Given the description of an element on the screen output the (x, y) to click on. 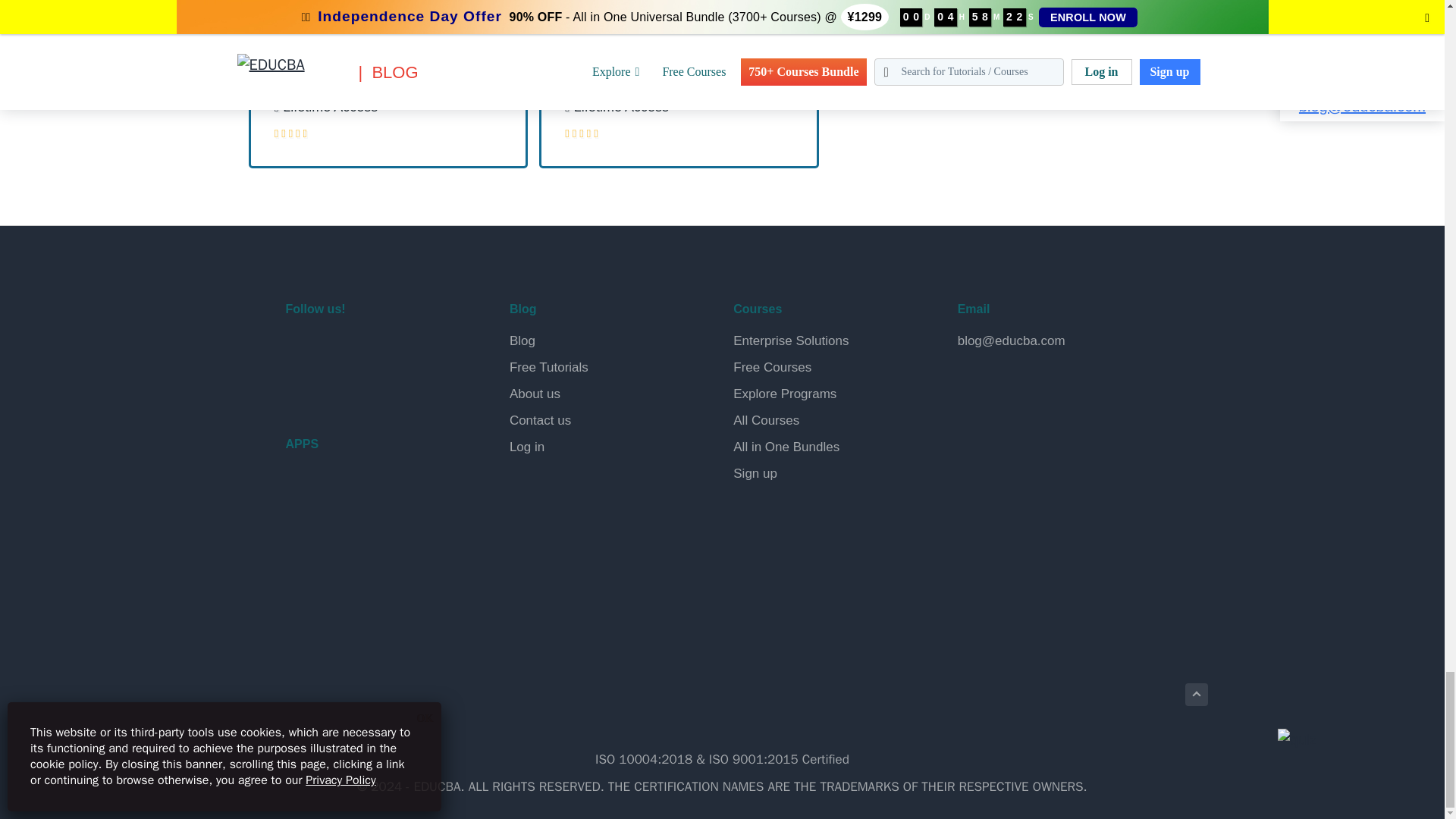
EDUCBA Udemy (371, 387)
EDUCBA Instagram (408, 349)
EDUCBA iOS App (360, 562)
EDUCBA Twitter (336, 349)
EDUCBA Android App (360, 498)
EDUCBA Youtube (300, 387)
EDUCBA Facebook (300, 349)
EDUCBA Coursera (336, 387)
EDUCBA LinkedIN (371, 349)
